Given the description of an element on the screen output the (x, y) to click on. 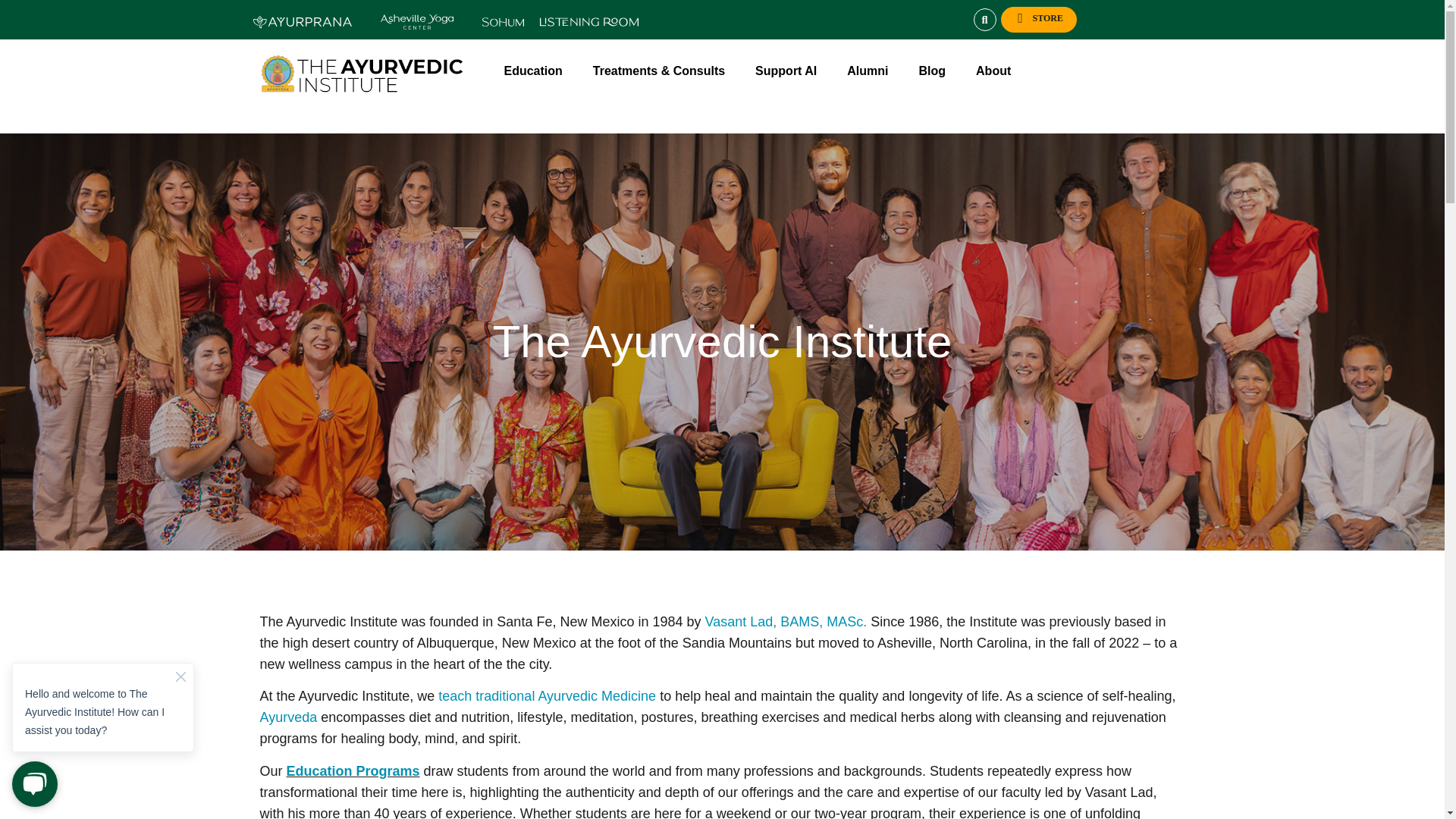
Chat Widget (103, 725)
Support AI (789, 70)
Alumni (871, 70)
Education (536, 70)
About (996, 70)
Blog (935, 70)
